Given the description of an element on the screen output the (x, y) to click on. 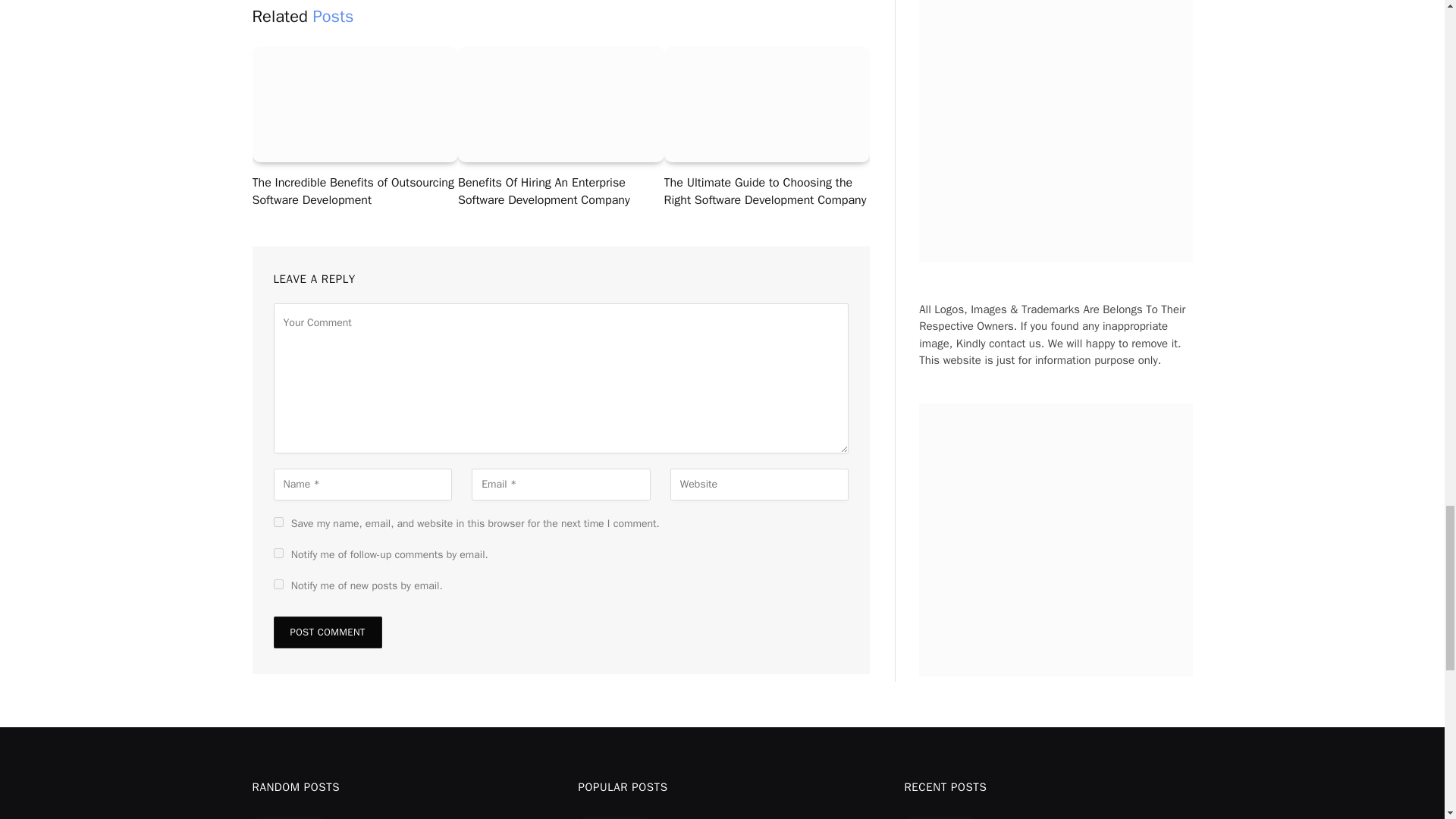
yes (277, 521)
subscribe (277, 583)
subscribe (277, 552)
Post Comment (327, 632)
